Given the description of an element on the screen output the (x, y) to click on. 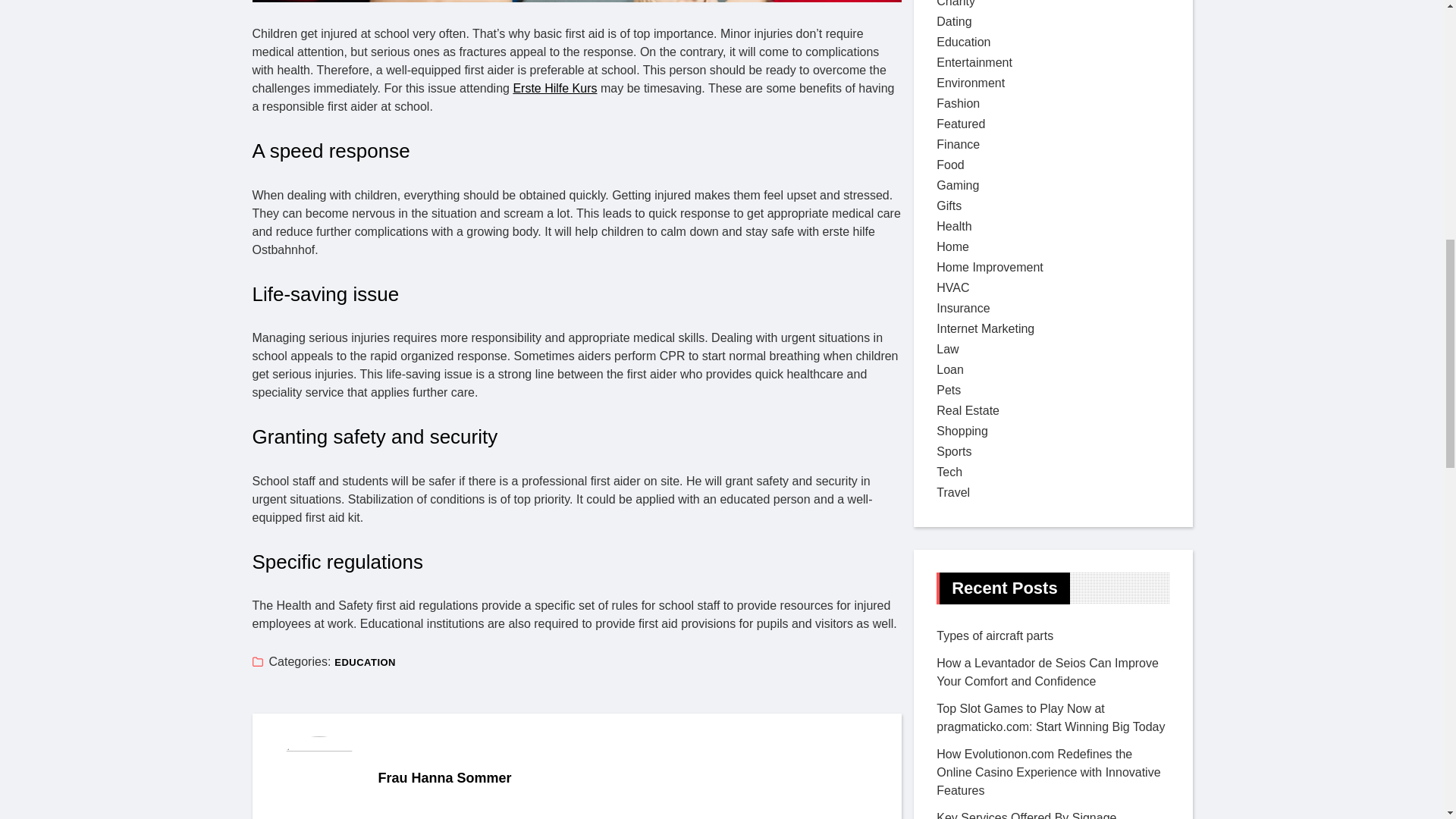
Frau Hanna Sommer (318, 777)
Frau Hanna Sommer (628, 778)
Erste Hilfe Kurs (554, 88)
Frau Hanna Sommer (628, 778)
EDUCATION (365, 662)
